Given the description of an element on the screen output the (x, y) to click on. 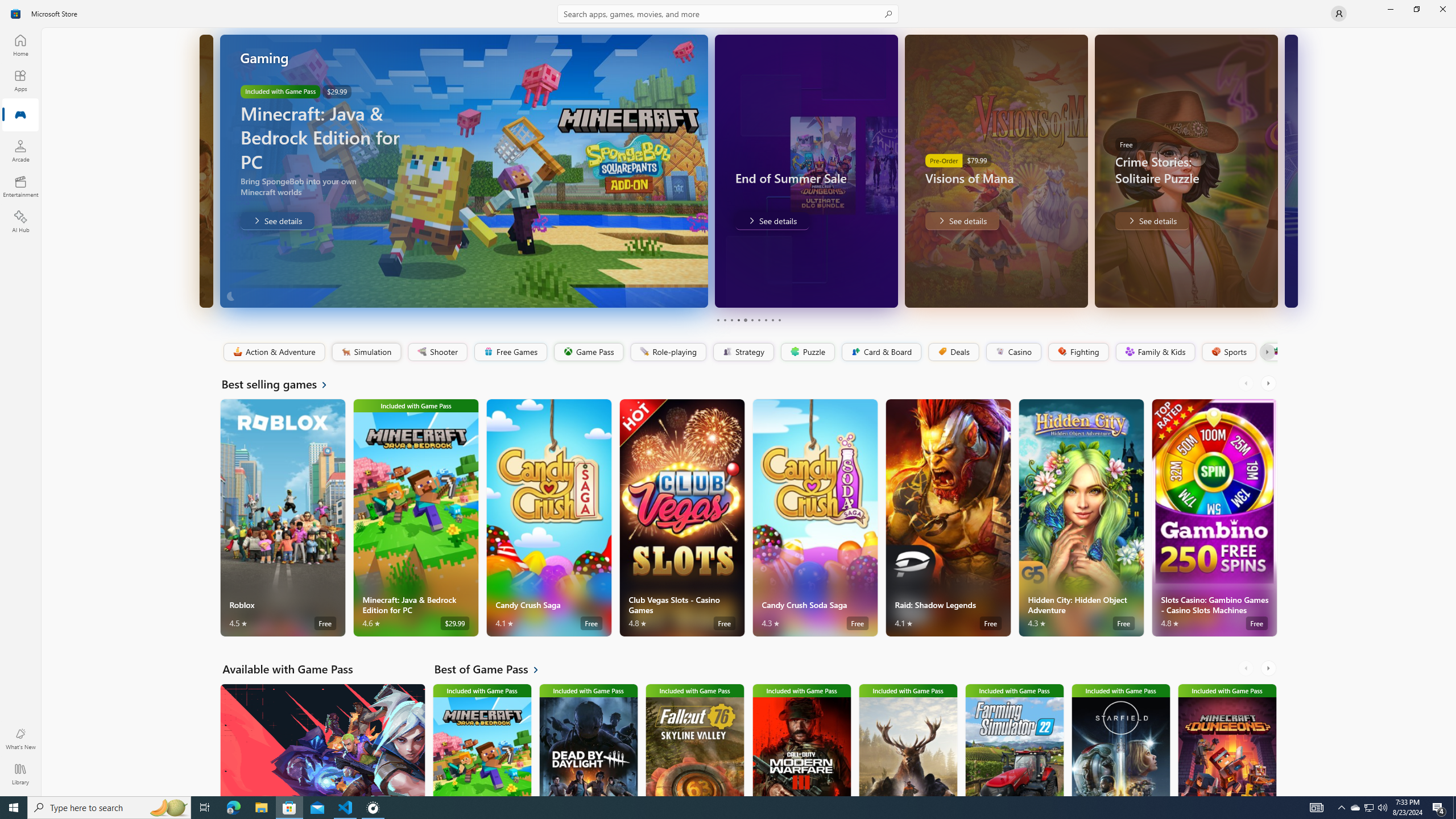
Simulation (365, 352)
Entertainment (20, 185)
Fighting (1078, 352)
AutomationID: LeftScrollButton (1246, 668)
Library (20, 773)
End of Summer Sale. Save up to 80%.  . See details (771, 221)
Platformer (1269, 352)
